Given the description of an element on the screen output the (x, y) to click on. 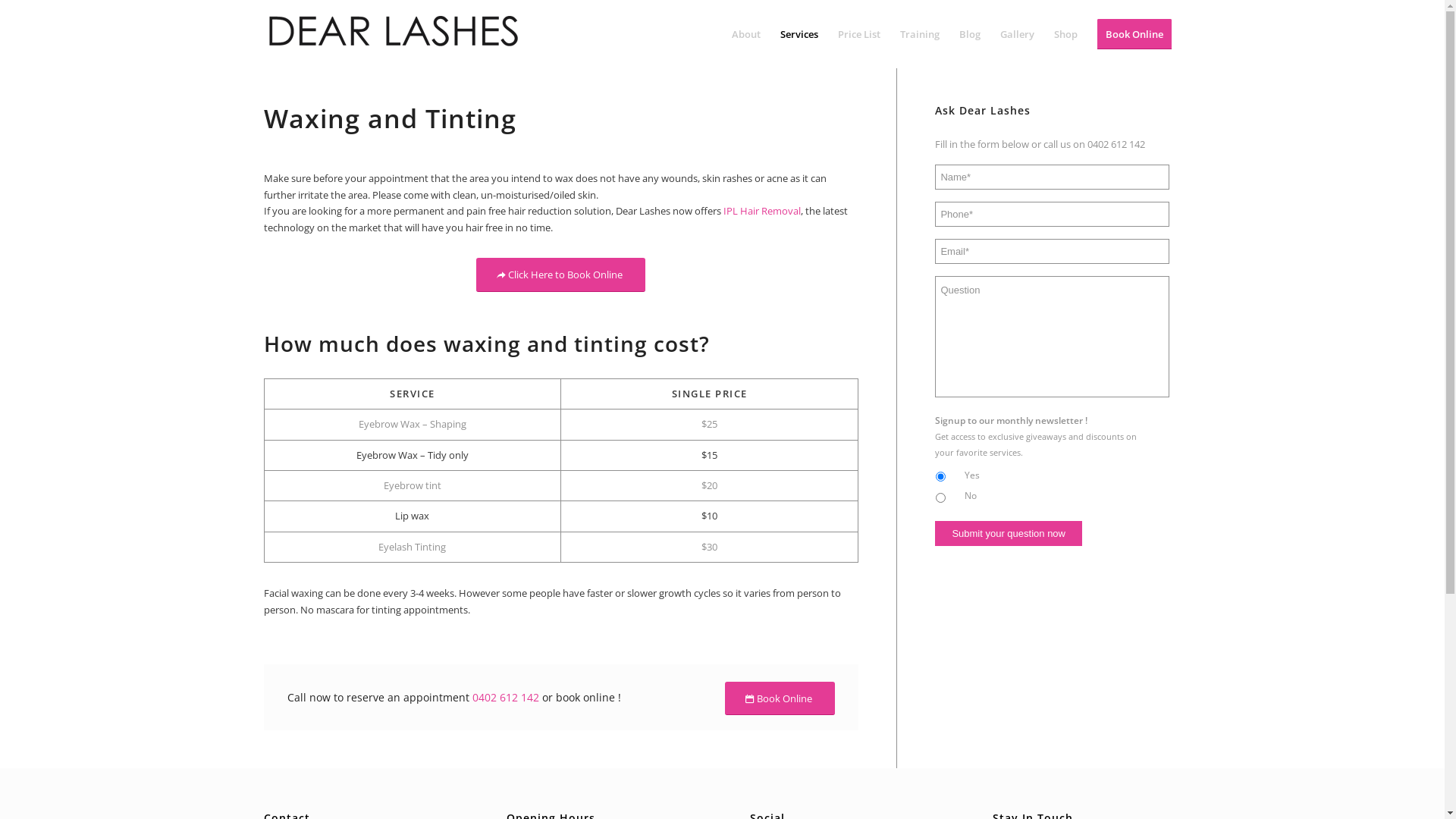
Shop Element type: text (1064, 34)
Submit your question now Element type: text (1008, 532)
Blog Element type: text (969, 34)
About Element type: text (745, 34)
Gallery Element type: text (1017, 34)
Book Online Element type: text (1134, 34)
Book Online Element type: text (779, 698)
0402 612 142 Element type: text (504, 697)
Price List Element type: text (859, 34)
IPL Hair Removal Element type: text (761, 210)
0402 612 142 Element type: text (1116, 143)
Services Element type: text (799, 34)
Training Element type: text (919, 34)
Click Here to Book Online Element type: text (560, 274)
